Given the description of an element on the screen output the (x, y) to click on. 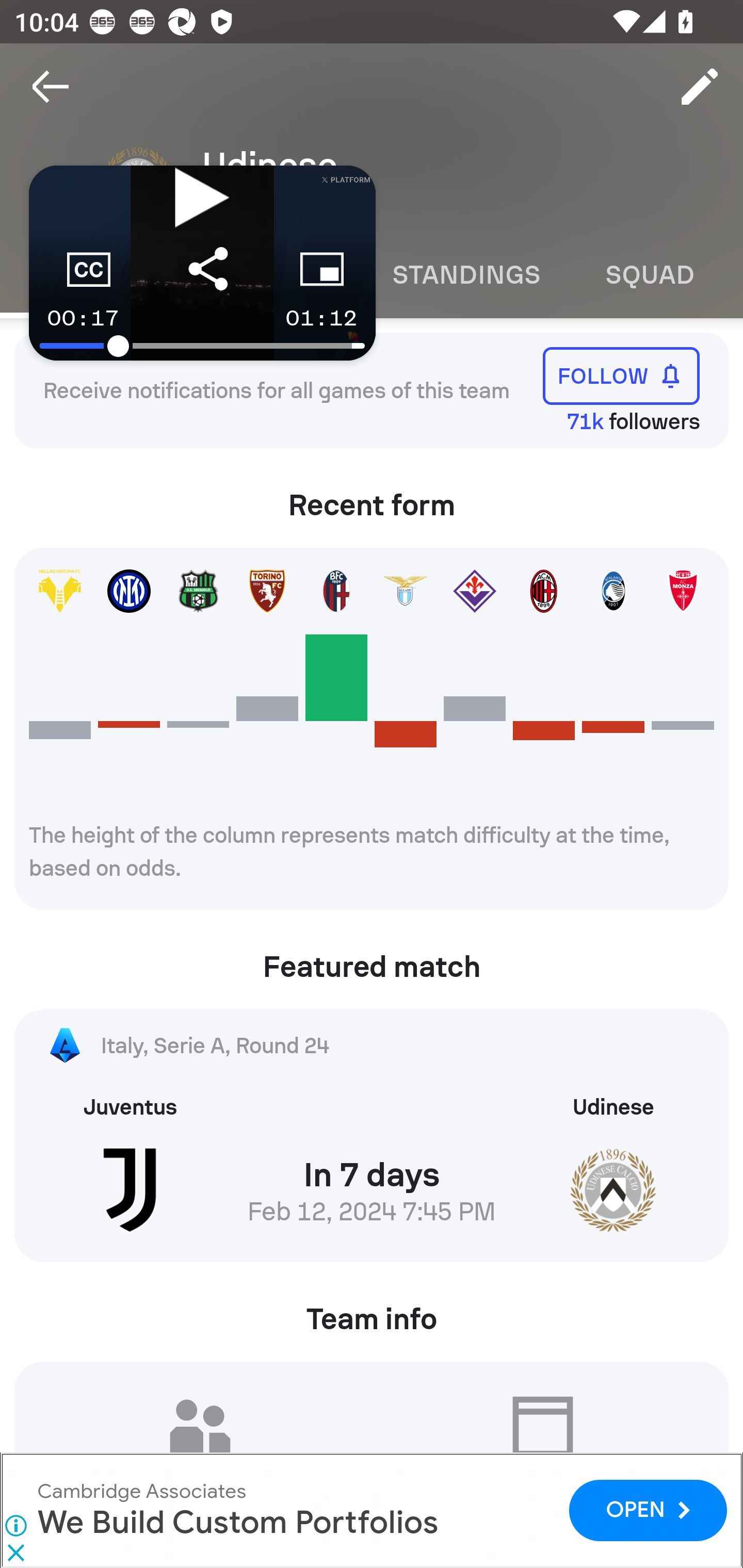
Navigate up (50, 86)
Edit (699, 86)
Standings STANDINGS (465, 275)
Squad SQUAD (650, 275)
FOLLOW (621, 375)
Cambridge Associates (141, 1491)
OPEN (647, 1509)
We Build Custom Portfolios (237, 1522)
